Given the description of an element on the screen output the (x, y) to click on. 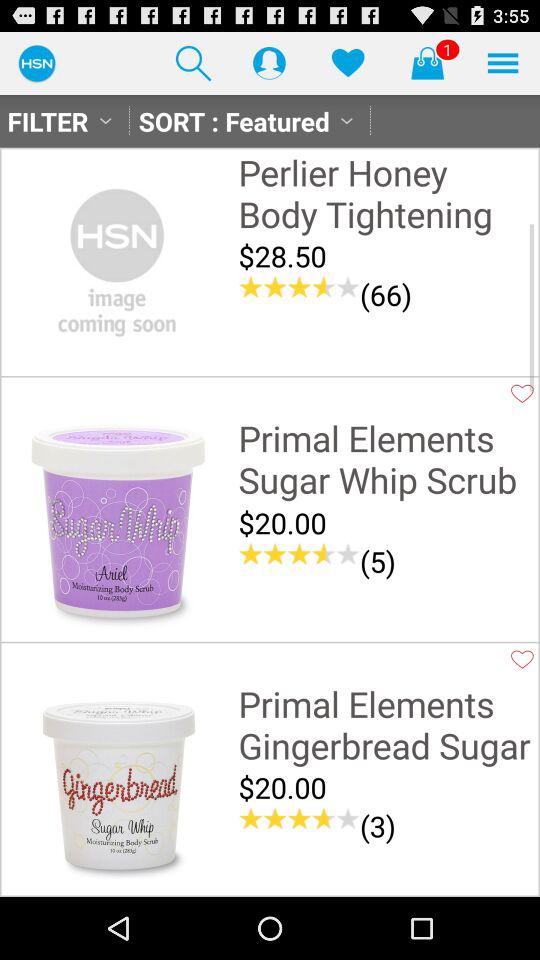
love this (522, 659)
